Given the description of an element on the screen output the (x, y) to click on. 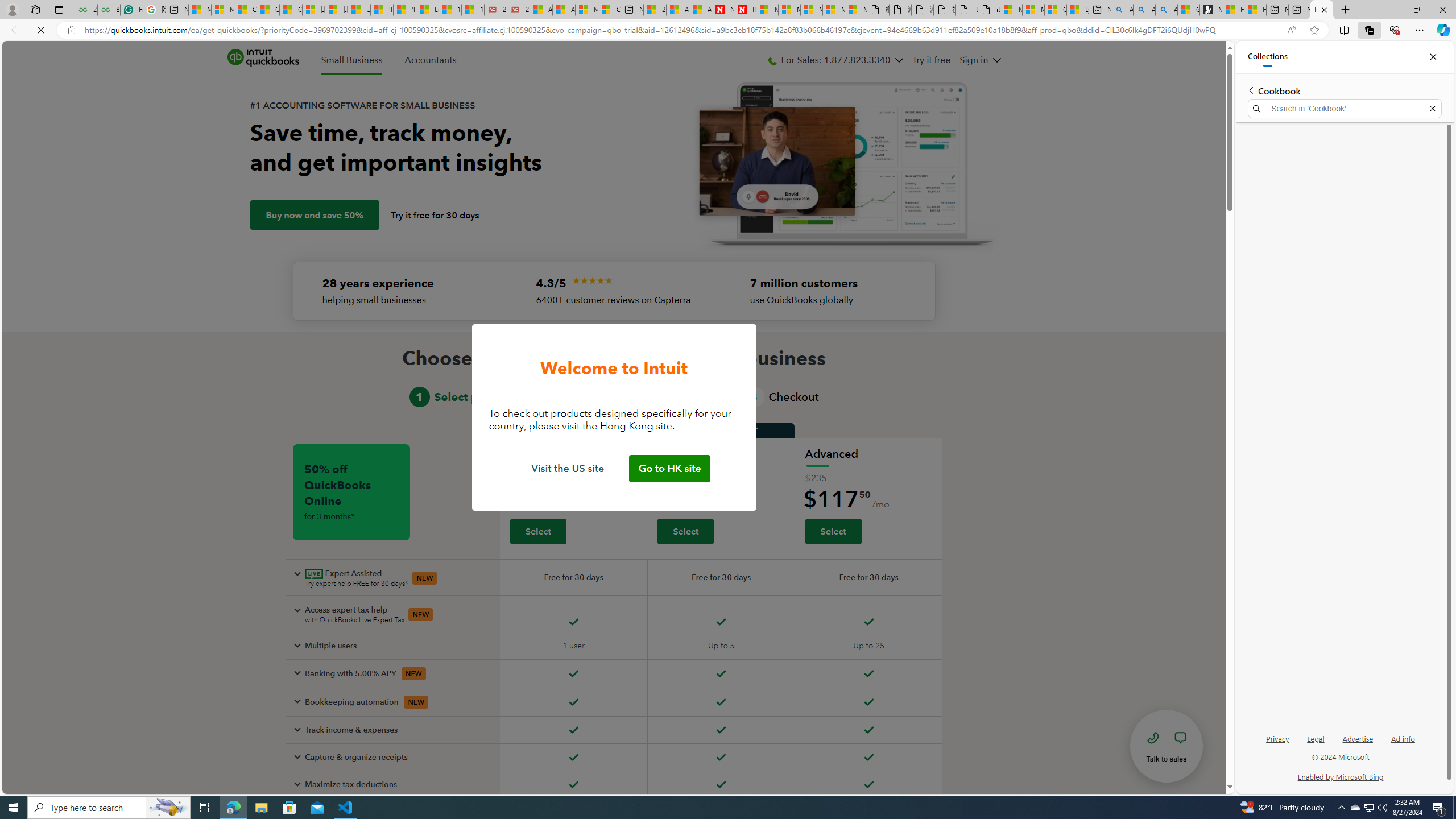
Alabama high school quarterback dies - Search Videos (1166, 9)
Try it free (930, 60)
quickbooks (262, 57)
For Sales: 1.877.823.3340 (835, 60)
Alabama high school quarterback dies - Search (1122, 9)
Search in 'Cookbook' (1345, 108)
Back to list of collections (1250, 90)
